Given the description of an element on the screen output the (x, y) to click on. 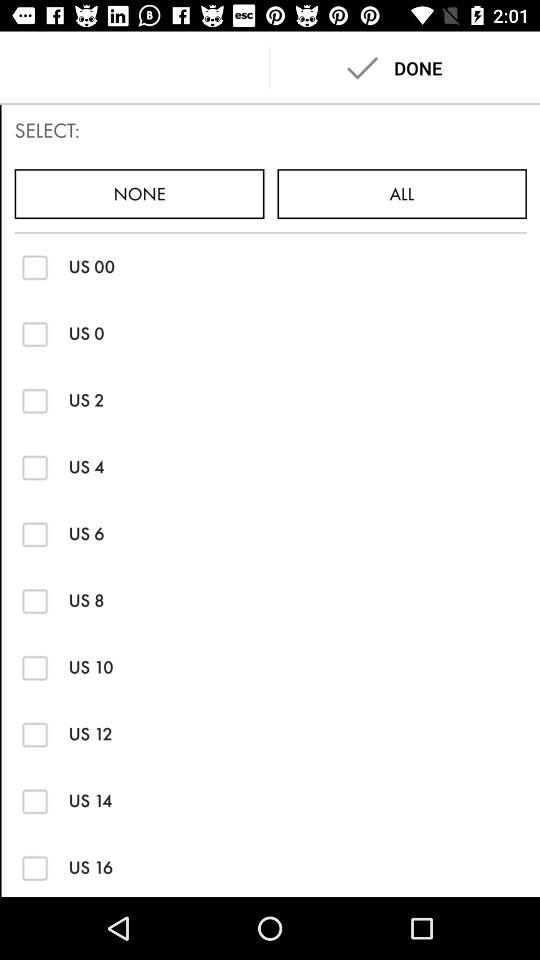
select option us 4 (34, 467)
